Given the description of an element on the screen output the (x, y) to click on. 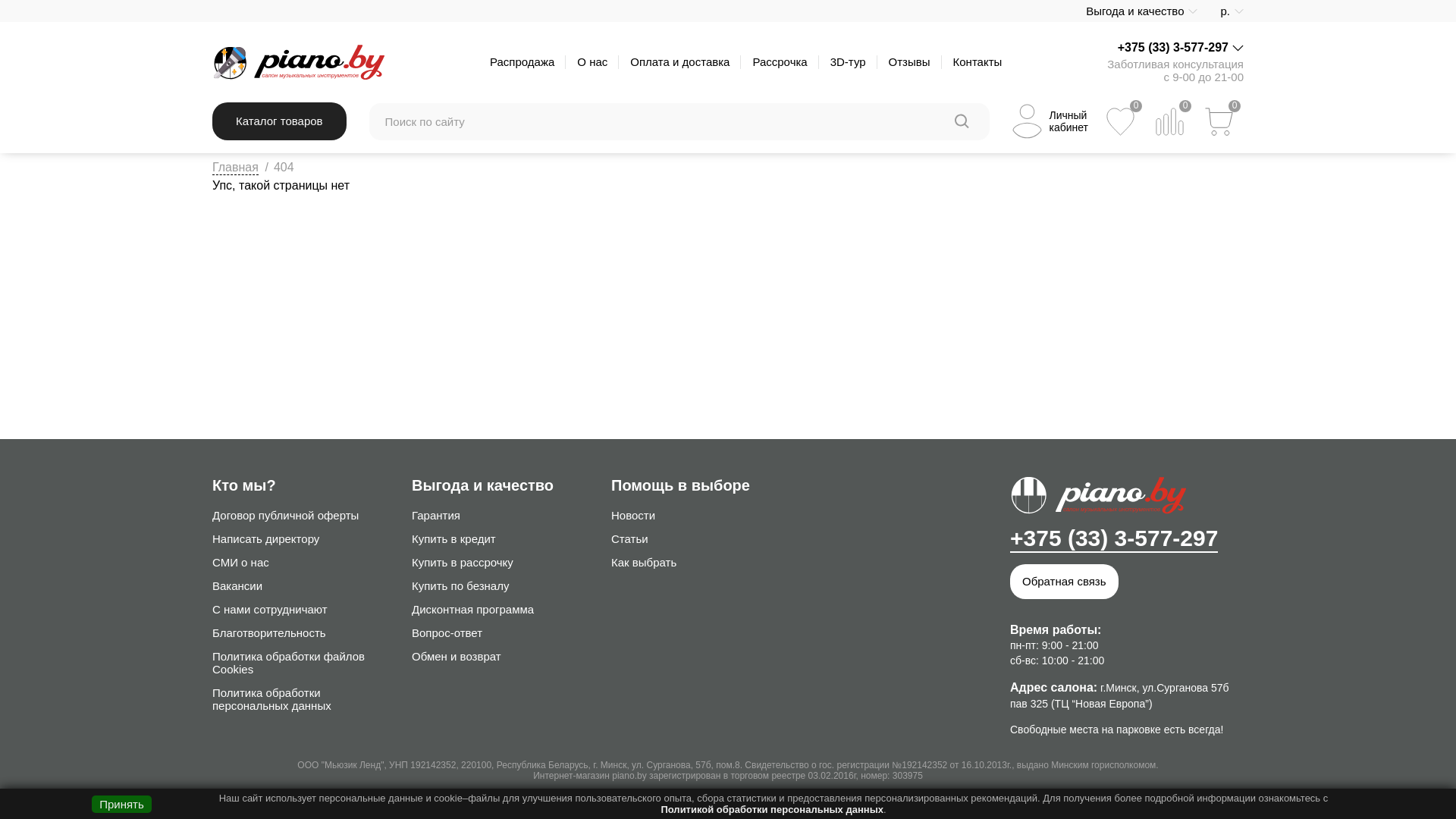
+375 (33) 3-577-297 Element type: text (1113, 538)
+375 (33) 3-577-297 Element type: text (1172, 47)
0 Element type: text (1218, 121)
0 Element type: text (1120, 121)
0 Element type: text (1169, 121)
